Given the description of an element on the screen output the (x, y) to click on. 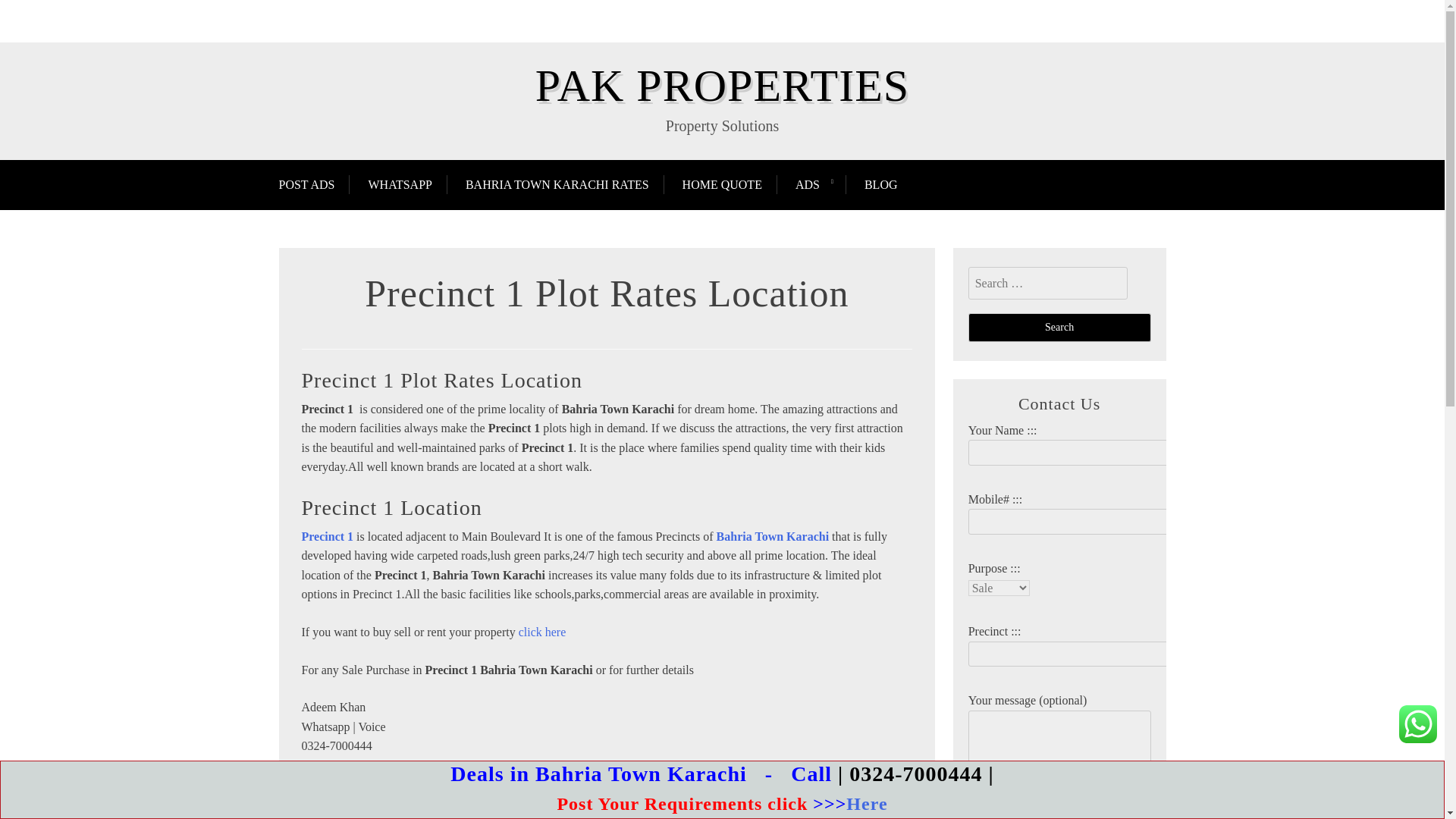
Bahria Town Karachi (772, 535)
Search (1059, 327)
BAHRIA TOWN KARACHI RATES (556, 184)
WHATSAPP (399, 184)
HOME QUOTE (721, 184)
ADS (807, 184)
WhatsApp Us (1418, 723)
BLOG (880, 184)
PAK PROPERTIES (721, 85)
POST ADS (314, 184)
Here (865, 803)
Search (1059, 327)
Precinct 1 (327, 535)
Search (1059, 327)
click here (542, 631)
